Given the description of an element on the screen output the (x, y) to click on. 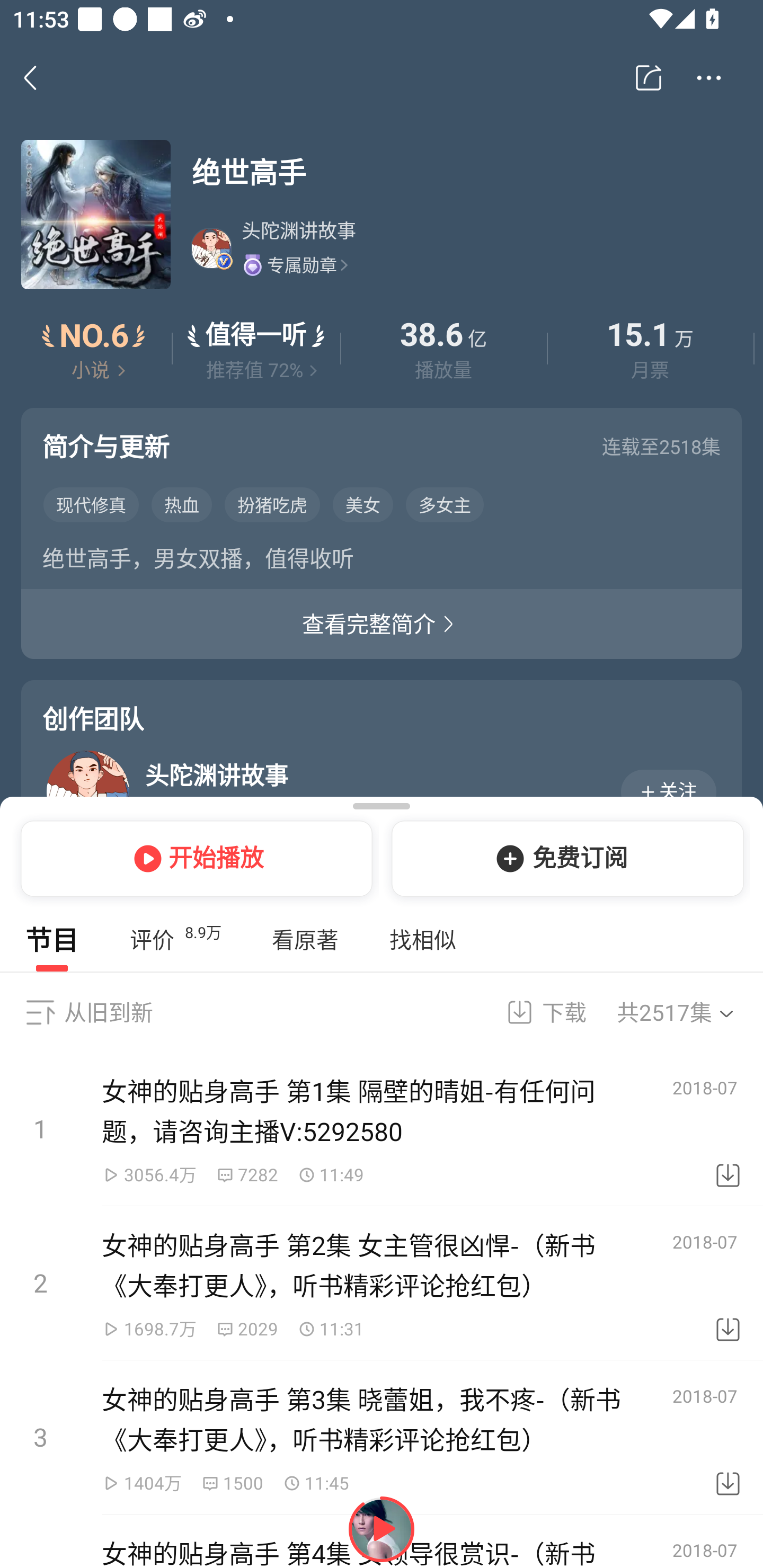
返回 (40, 77)
分享 (648, 78)
更多 (709, 78)
绝世高手 (466, 171)
头陀渊讲故事 专属勋章 (465, 248)
专属勋章 (294, 263)
排行榜 (93, 348)
评价 (255, 348)
现代修真 (90, 504)
热血 (181, 504)
扮猪吃虎 (271, 504)
美女 (362, 504)
多女主 (444, 504)
绝世高手，男女双播，值得收听 (381, 561)
查看完整简介 (381, 623)
头陀渊讲故事 主播  勋章 关注 (385, 791)
开始播放 (193, 858)
免费订阅 (564, 858)
节目 (51, 939)
评价  8.9万 (174, 939)
看原著 (304, 939)
找相似 (422, 939)
排序，从旧到新 (40, 1012)
从旧到新 (108, 1012)
下载 (534, 1012)
共2517集 选集，共2517集 (687, 1012)
下载 (728, 1129)
下载 (728, 1283)
下载 (728, 1437)
继续播放Alpha-橘子海OrangeOcean (381, 1529)
